Given the description of an element on the screen output the (x, y) to click on. 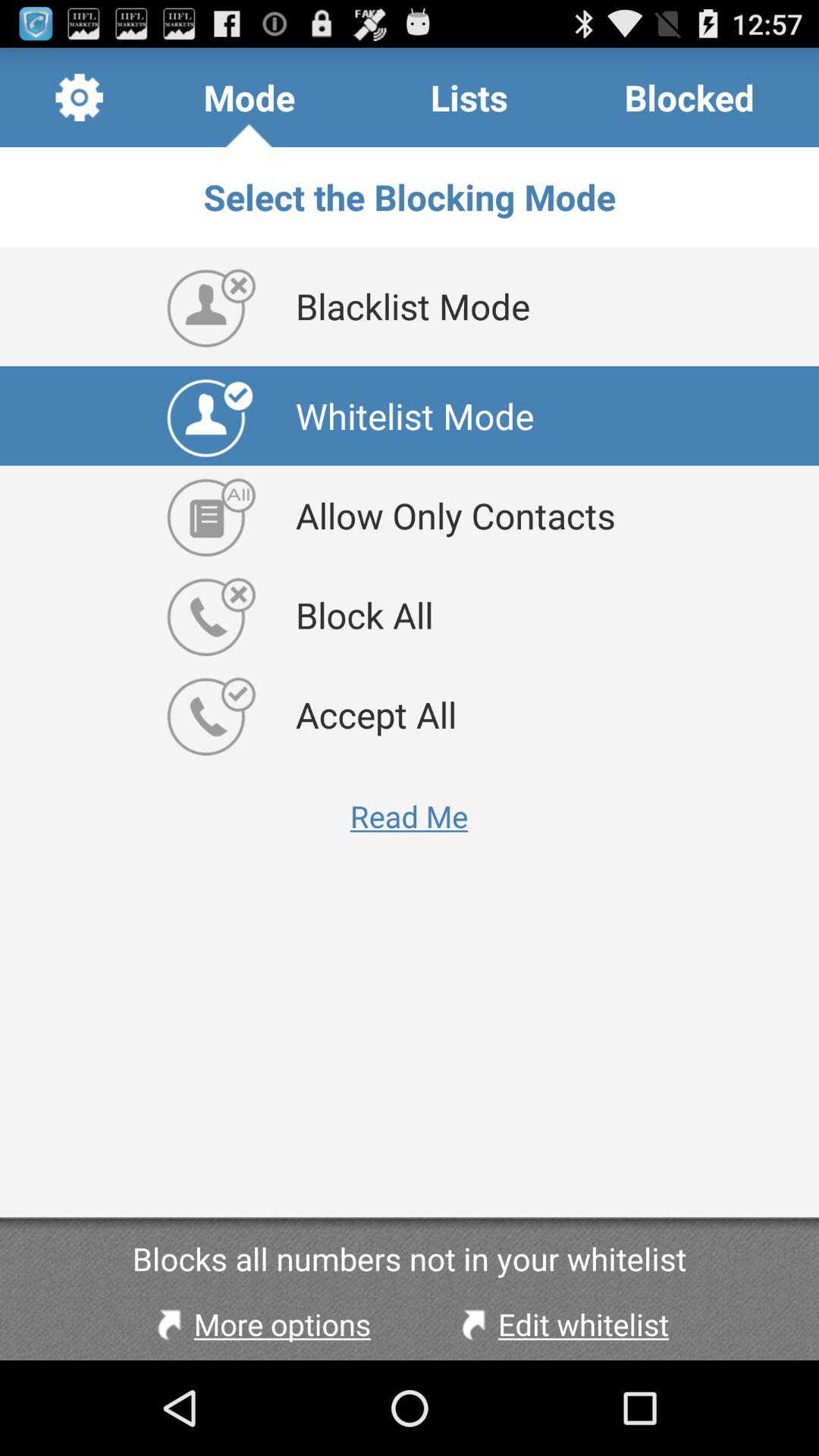
open the edit whitelist at the bottom right corner (561, 1324)
